Given the description of an element on the screen output the (x, y) to click on. 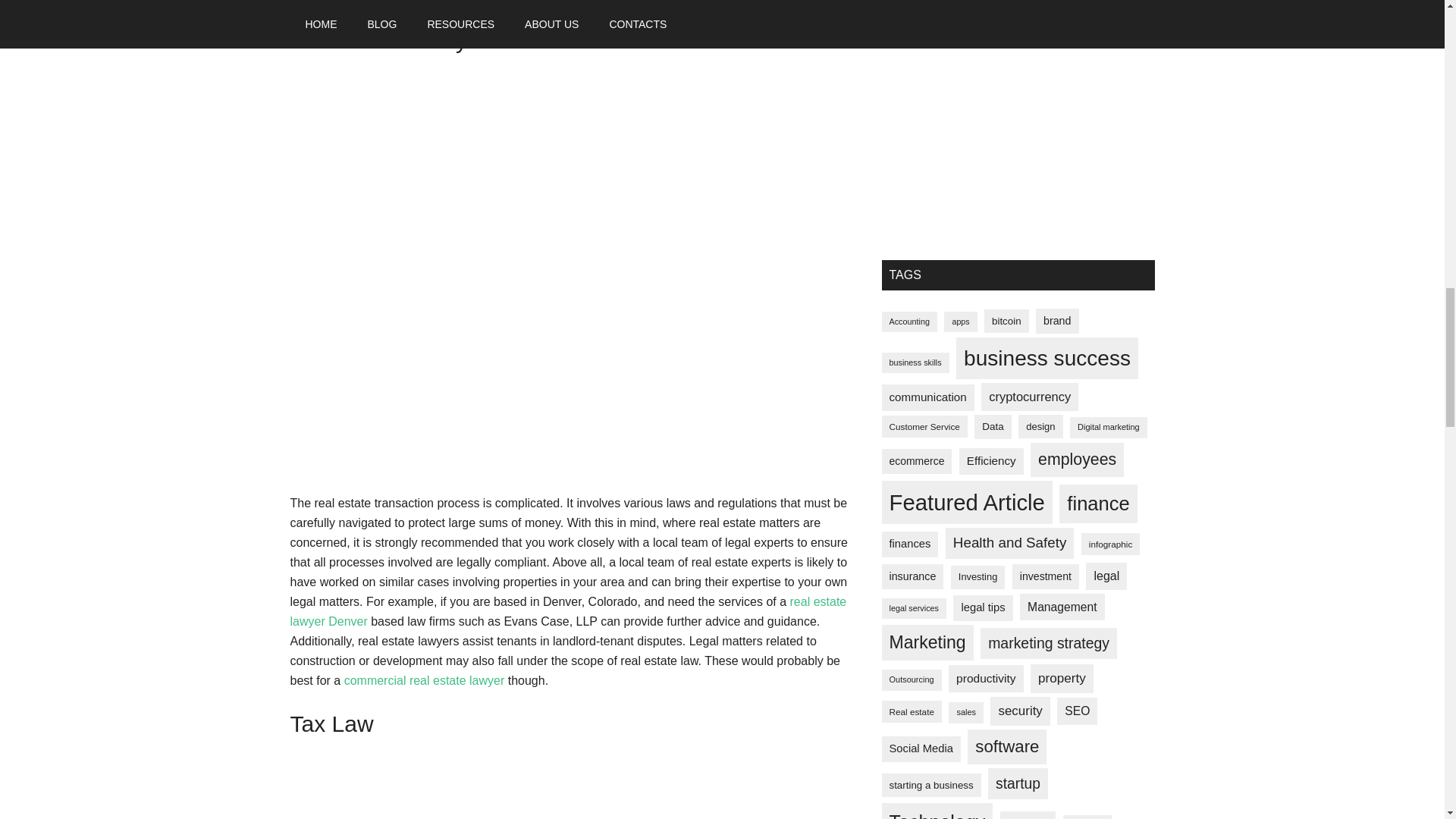
commercial real estate lawyer (424, 680)
real estate lawyer Denver (567, 611)
